Given the description of an element on the screen output the (x, y) to click on. 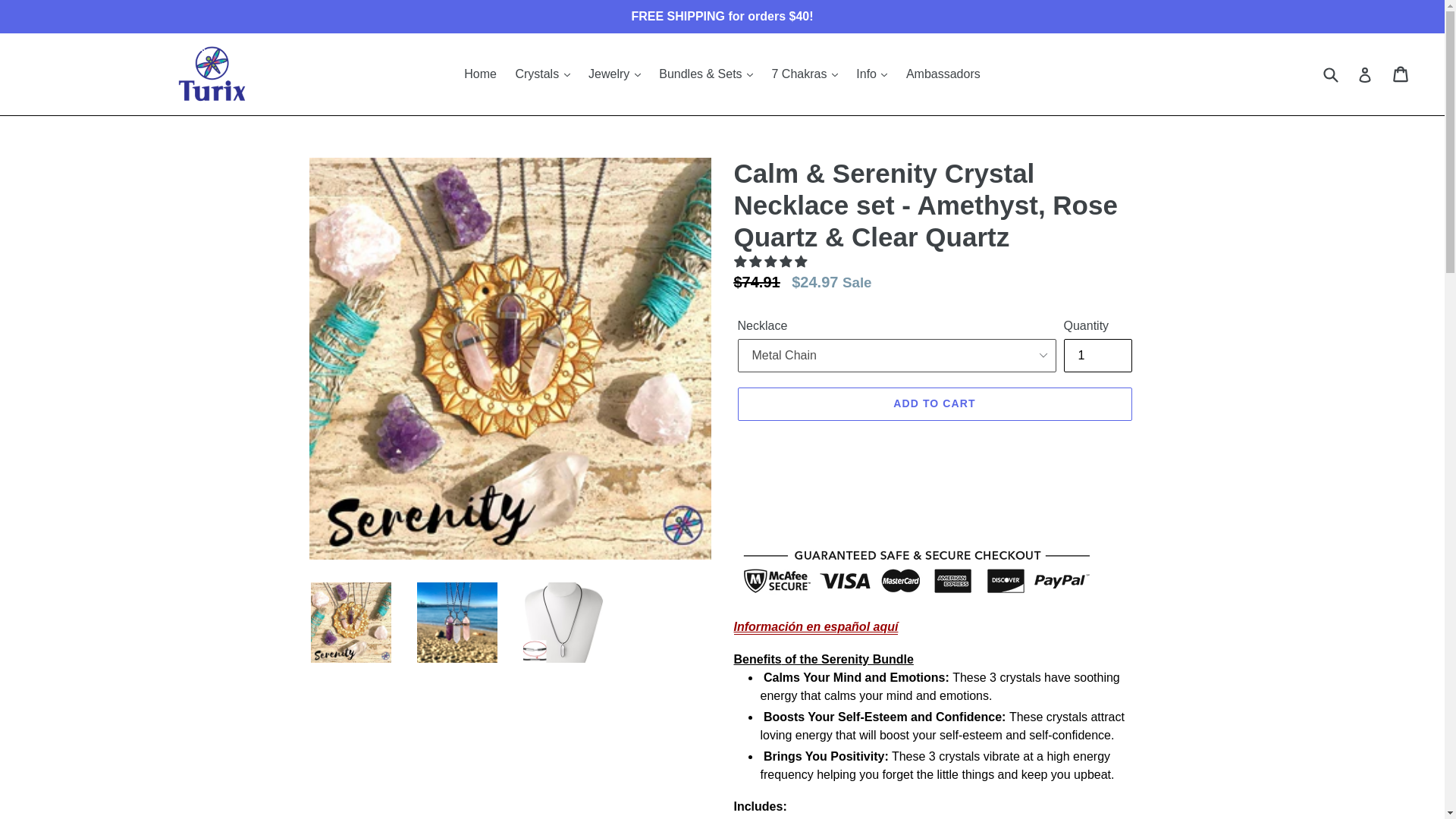
Info. Paquete Serenidad (815, 626)
1 (1096, 355)
